Given the description of an element on the screen output the (x, y) to click on. 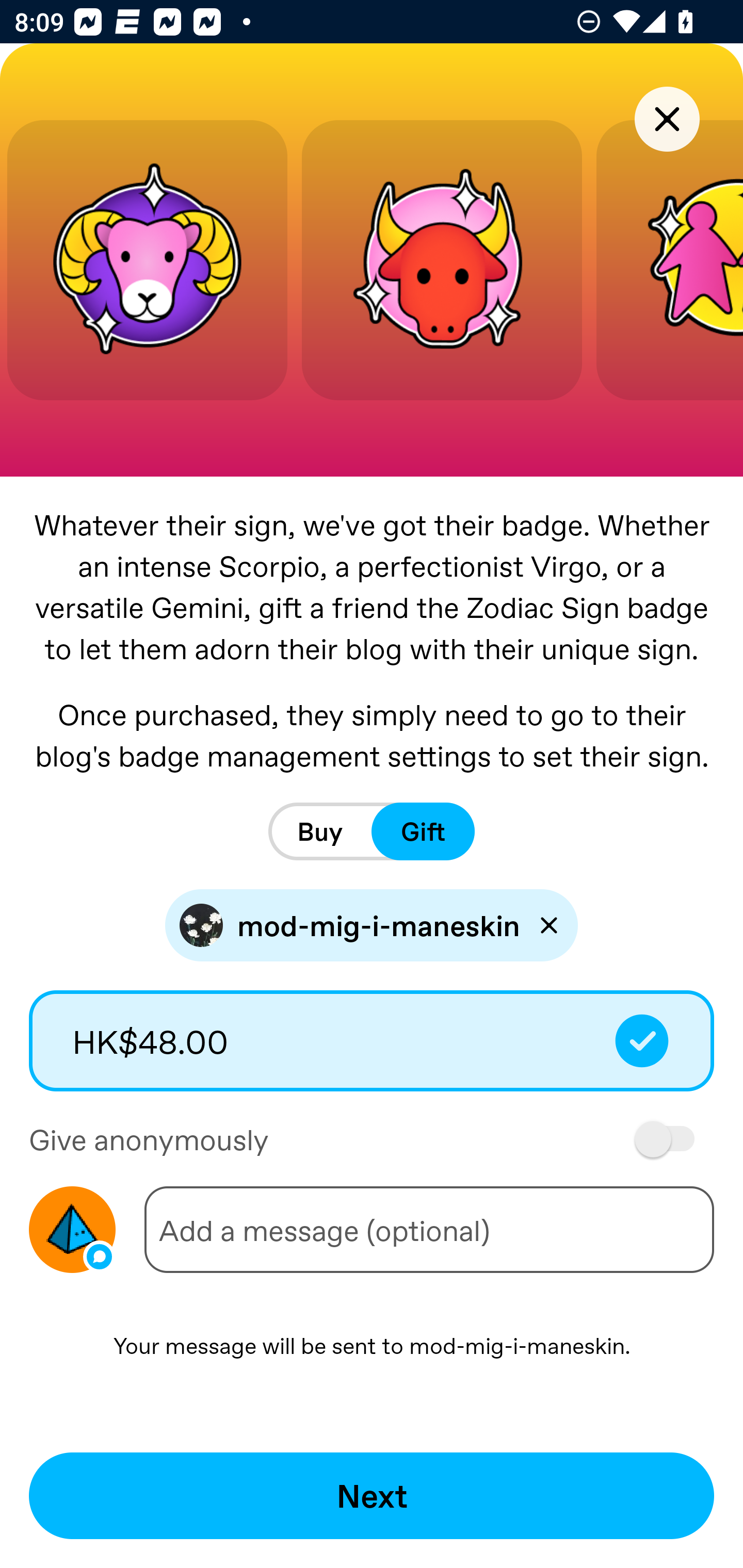
Buy (319, 831)
Gift (423, 831)
Add a message (optional) (429, 1229)
Next (371, 1495)
